Given the description of an element on the screen output the (x, y) to click on. 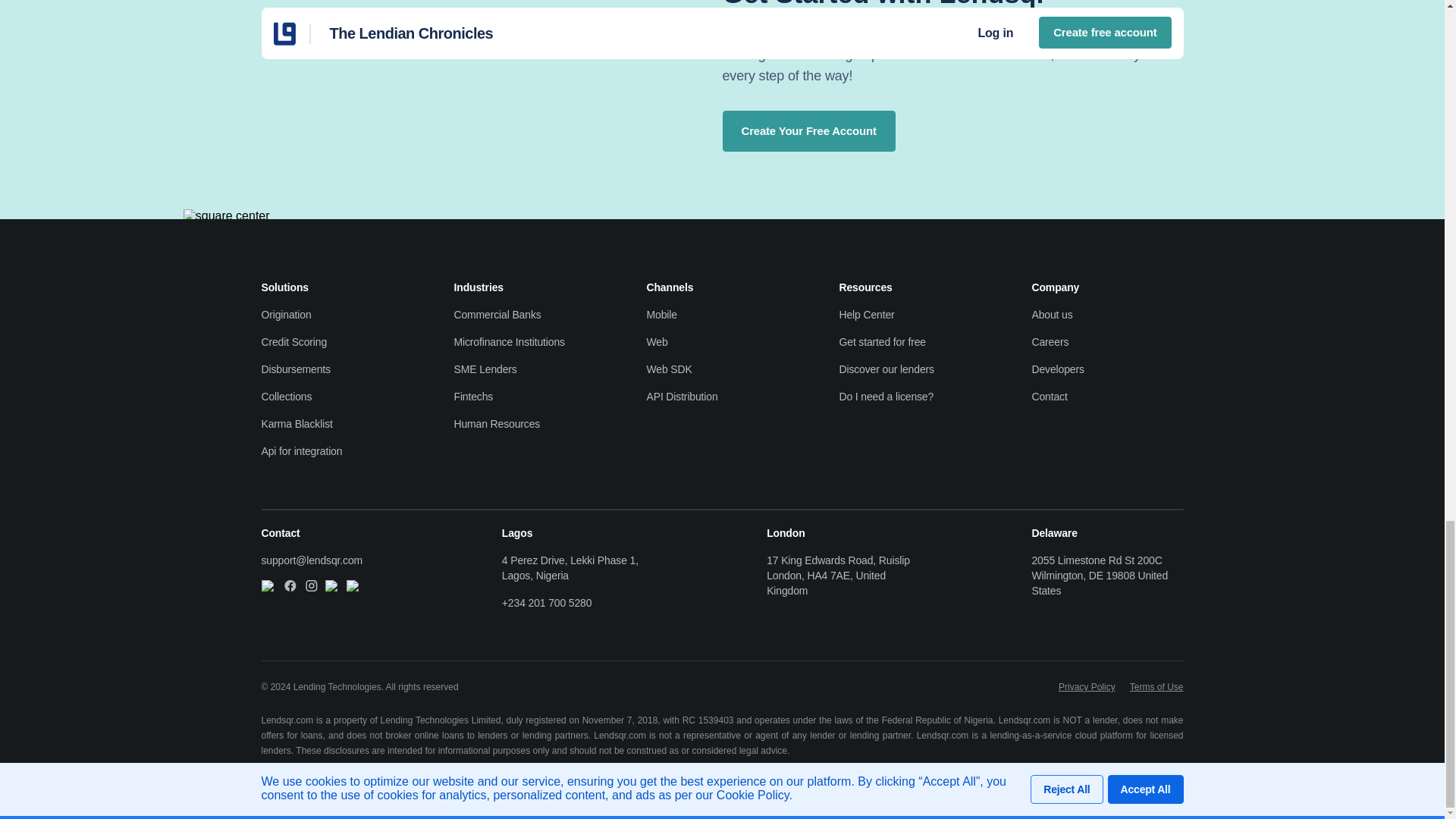
Commercial Banks (528, 314)
Collections (336, 396)
Api for integration (336, 450)
Disbursements (336, 368)
Microfinance Institutions (528, 341)
Create Your Free Account (808, 130)
Karma Blacklist (336, 423)
Origination (336, 314)
Create Your Free Account (808, 130)
Credit Scoring (336, 341)
